Given the description of an element on the screen output the (x, y) to click on. 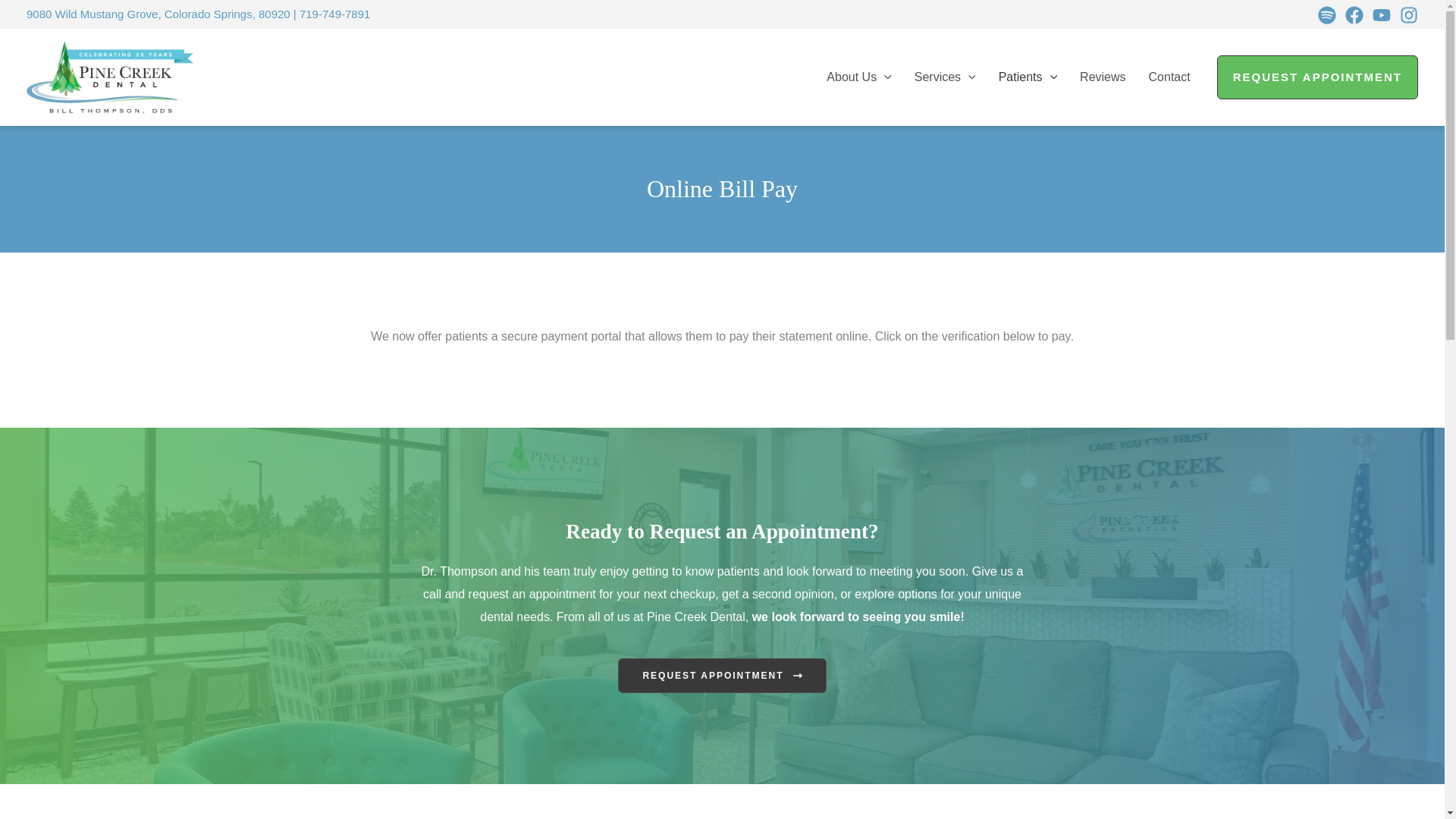
719-749-7891 (334, 13)
9080 Wild Mustang Grove, Colorado Springs, 80920 (157, 13)
About Us (858, 77)
Services (944, 77)
